Given the description of an element on the screen output the (x, y) to click on. 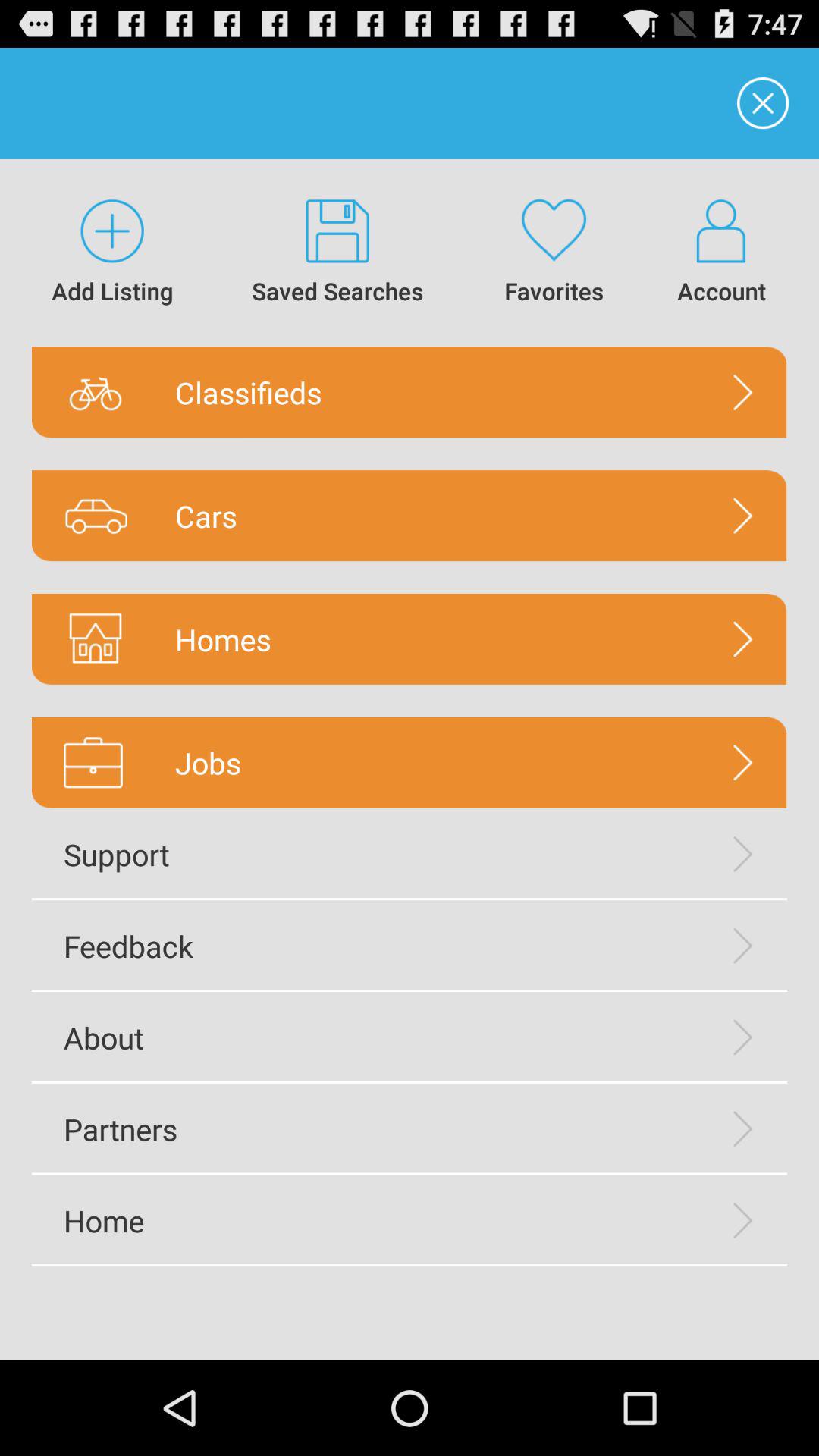
click icon above classifieds (337, 253)
